Given the description of an element on the screen output the (x, y) to click on. 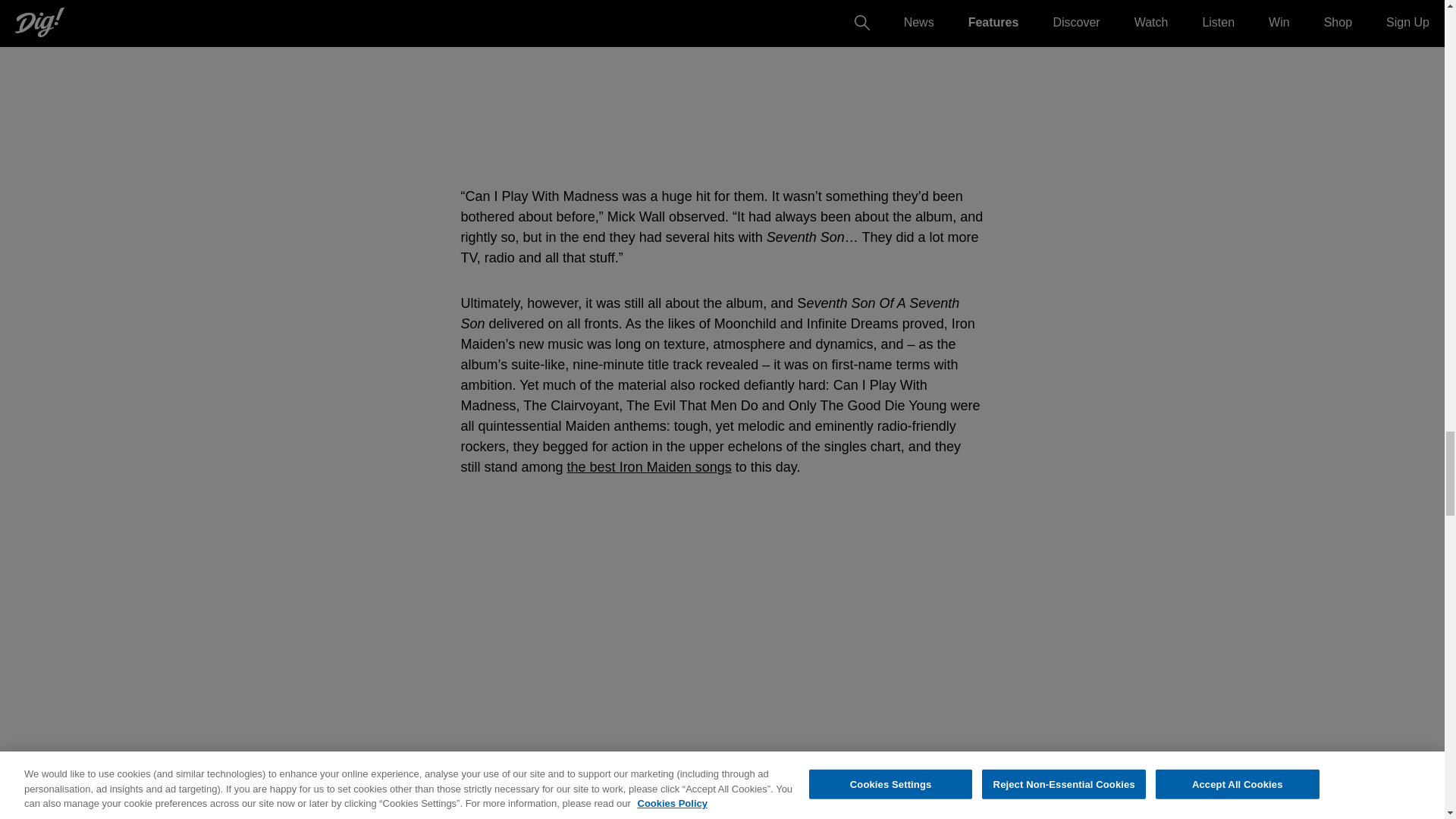
the best Iron Maiden songs (649, 467)
